Given the description of an element on the screen output the (x, y) to click on. 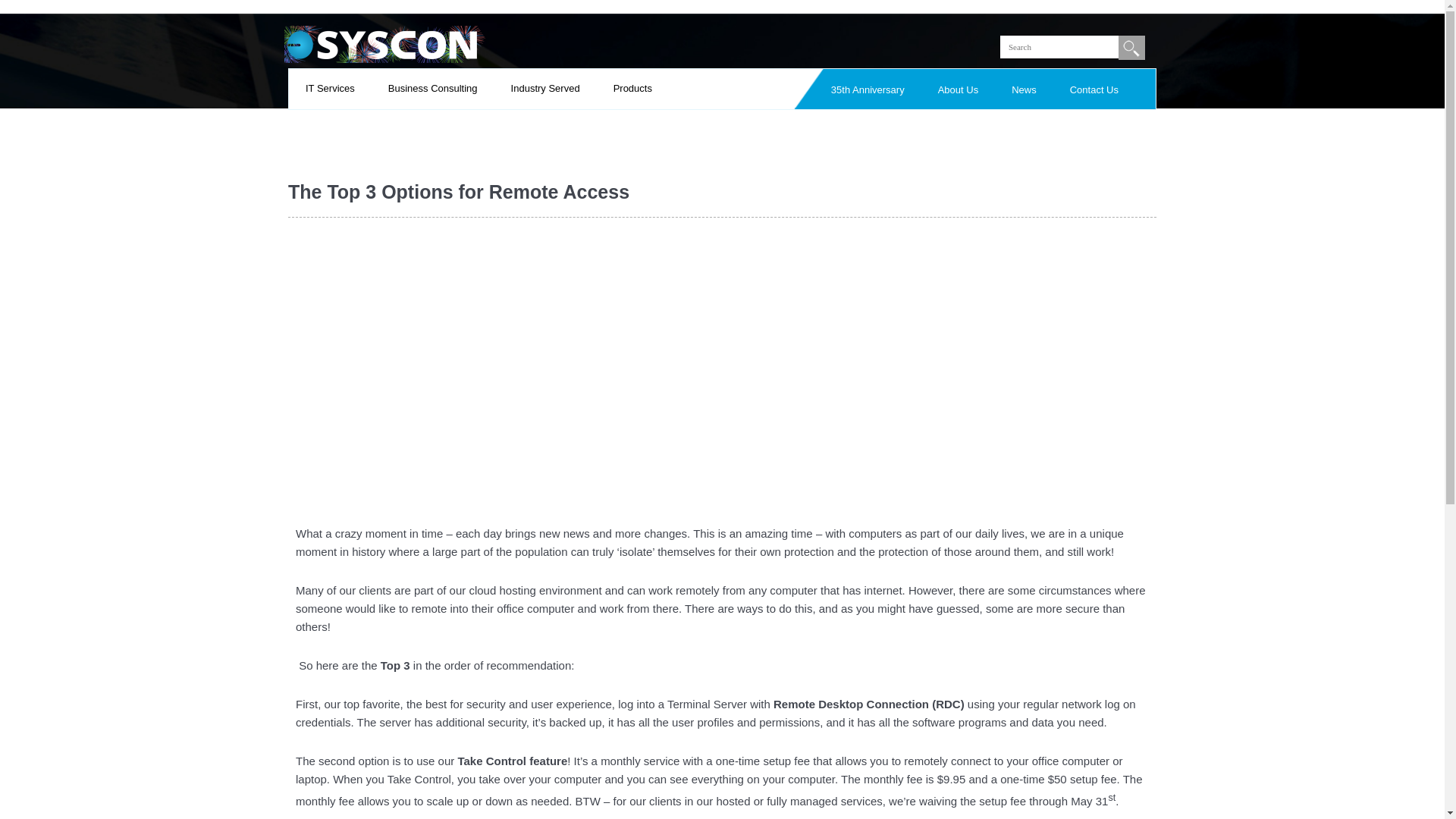
Industry Served (545, 90)
Recap of Secure Remote Access Options (530, 365)
Contact Us (1094, 89)
Products (632, 90)
About Us (957, 89)
Business Consulting (432, 90)
SYSCON (383, 42)
News (1023, 89)
IT Services (330, 90)
35th Anniversary (867, 89)
